Given the description of an element on the screen output the (x, y) to click on. 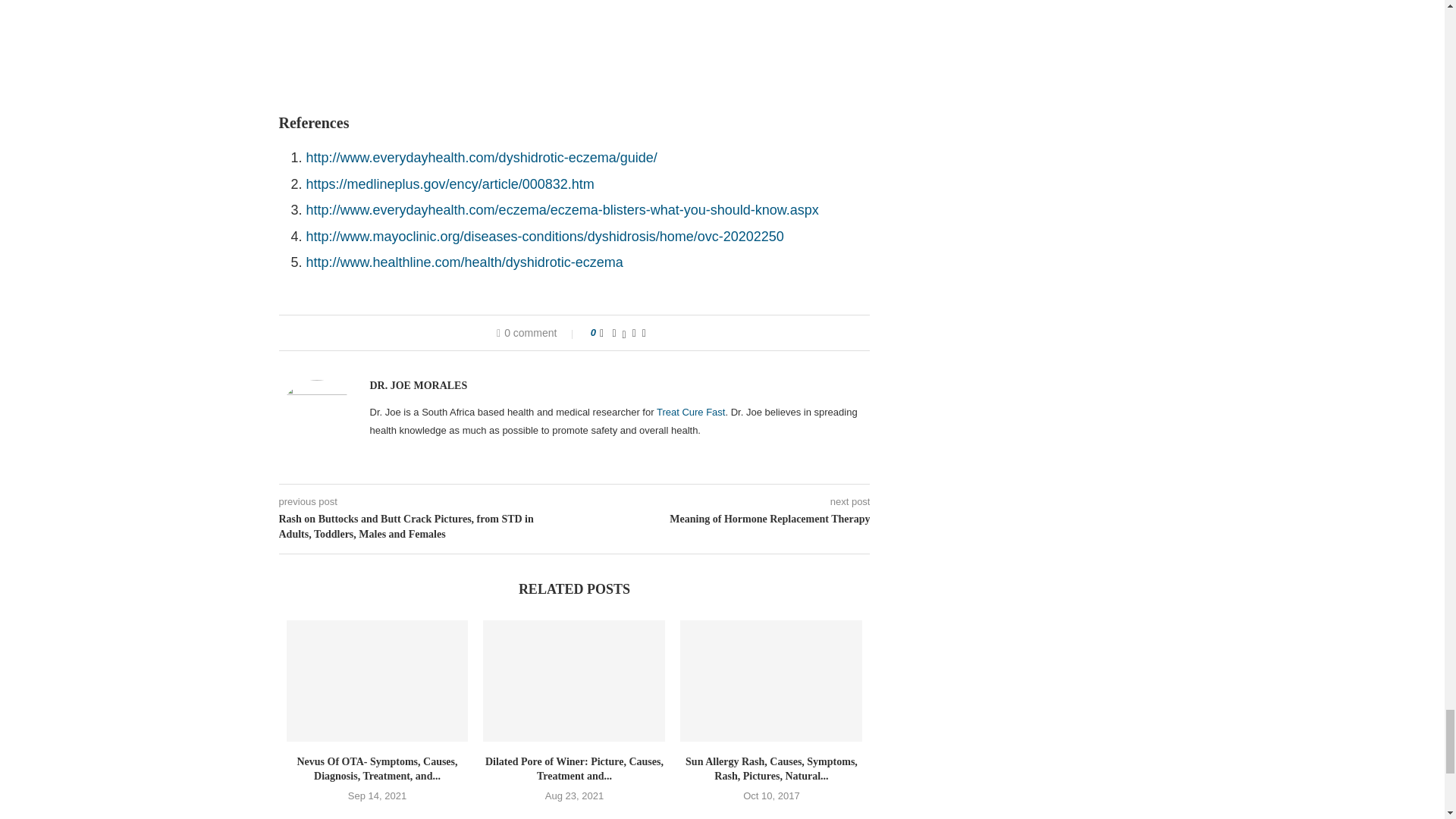
DR. JOE MORALES (418, 386)
Author Dr. Joe Morales (418, 386)
Meaning of Hormone Replacement Therapy (722, 519)
Treat Cure Fast (690, 411)
Like (601, 332)
